Given the description of an element on the screen output the (x, y) to click on. 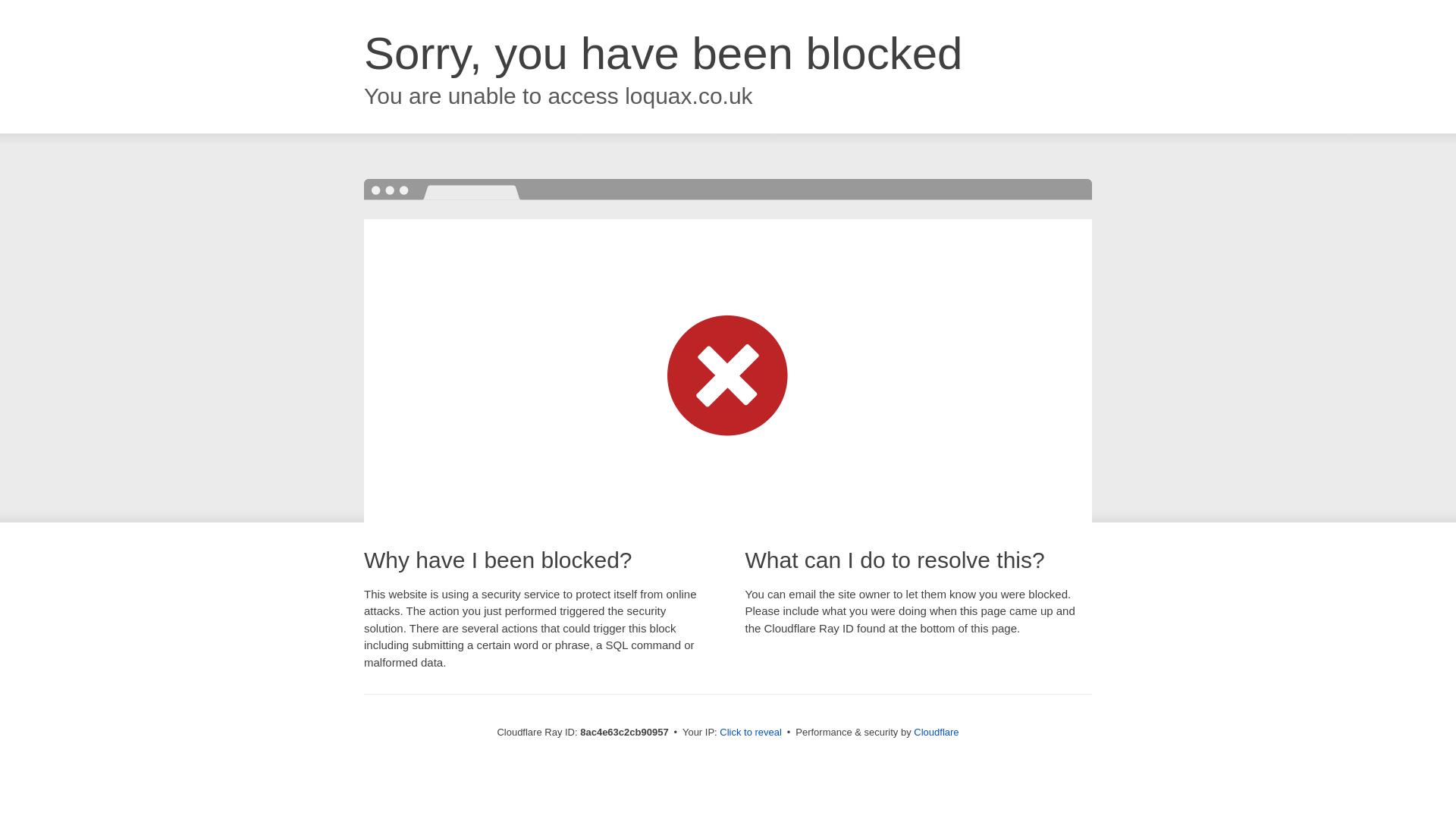
Cloudflare (936, 731)
Click to reveal (750, 732)
